Given the description of an element on the screen output the (x, y) to click on. 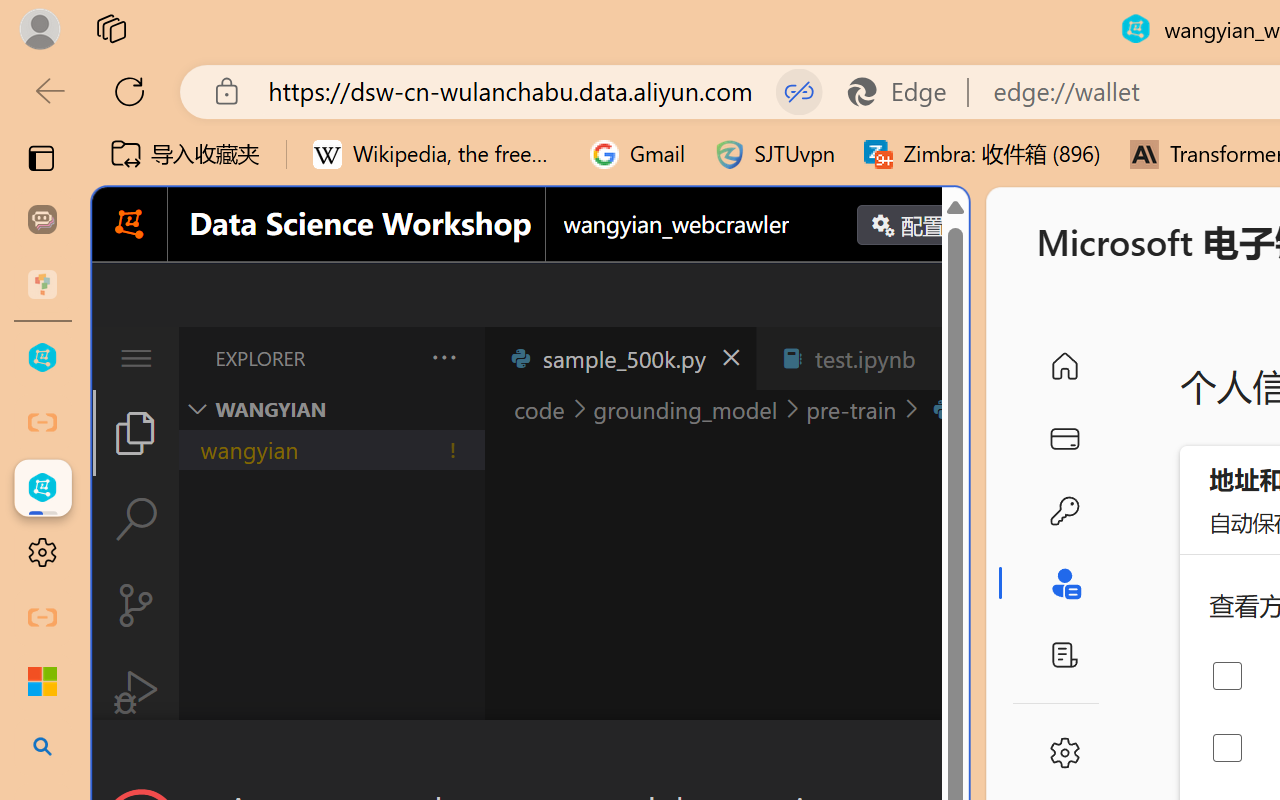
Explorer Section: wangyian (331, 409)
Close Dialog (959, 756)
Views and More Actions... (442, 357)
Run and Debug (Ctrl+Shift+D) (135, 692)
